Given the description of an element on the screen output the (x, y) to click on. 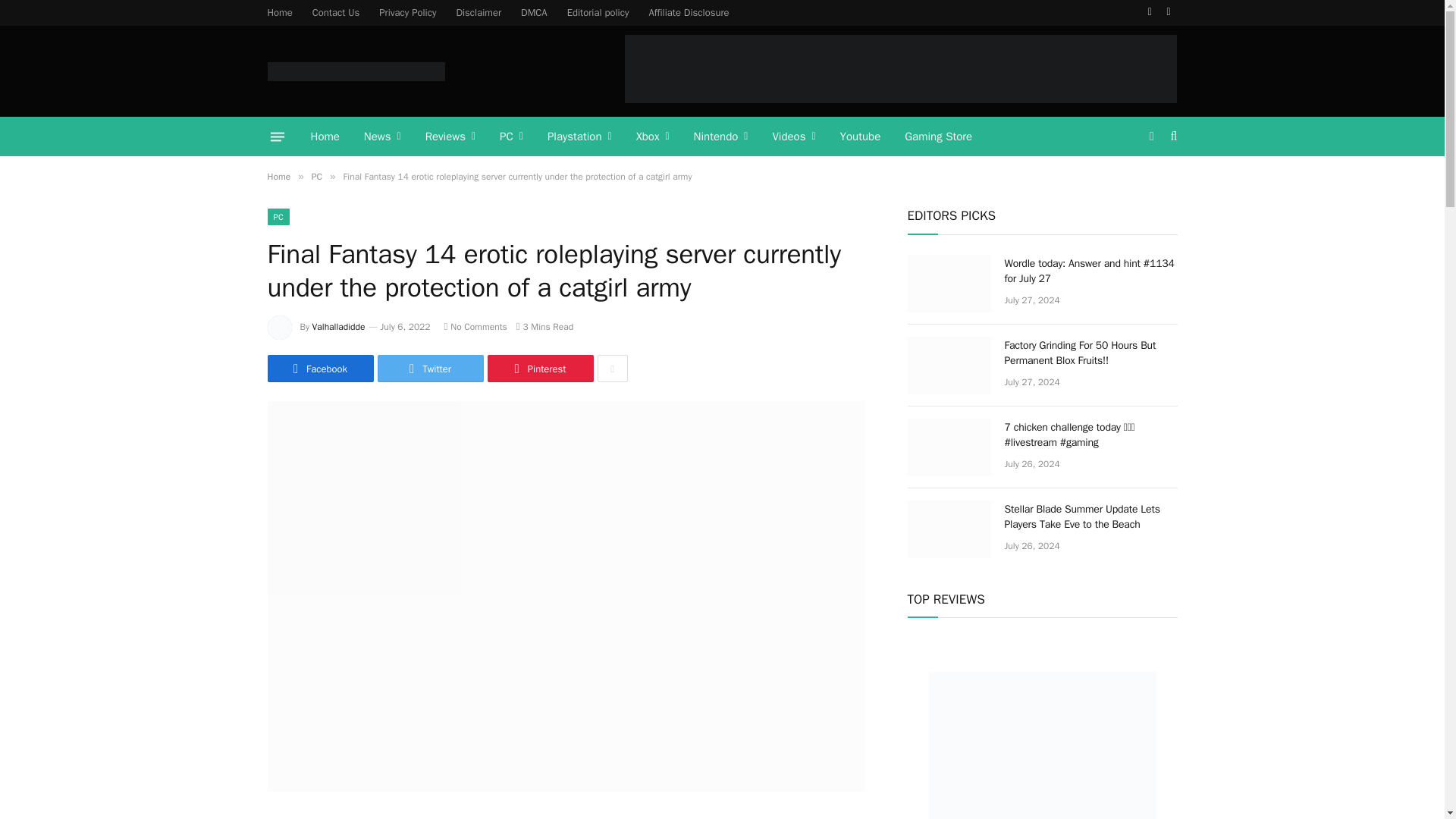
DMCA (534, 12)
Affiliate Disclosure (688, 12)
Contact Us (335, 12)
Home (279, 12)
Disclaimer (478, 12)
YouTube (1168, 12)
Editorial policy (598, 12)
Home (325, 136)
News (382, 136)
Privacy Policy (407, 12)
Twitter (1149, 12)
Gamers News Hub (355, 71)
